Given the description of an element on the screen output the (x, y) to click on. 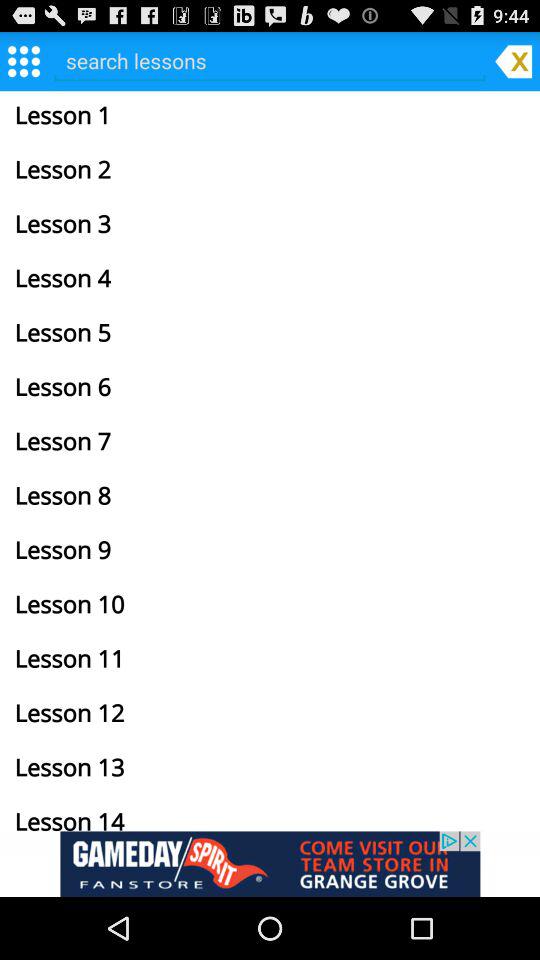
click to close (513, 60)
